Given the description of an element on the screen output the (x, y) to click on. 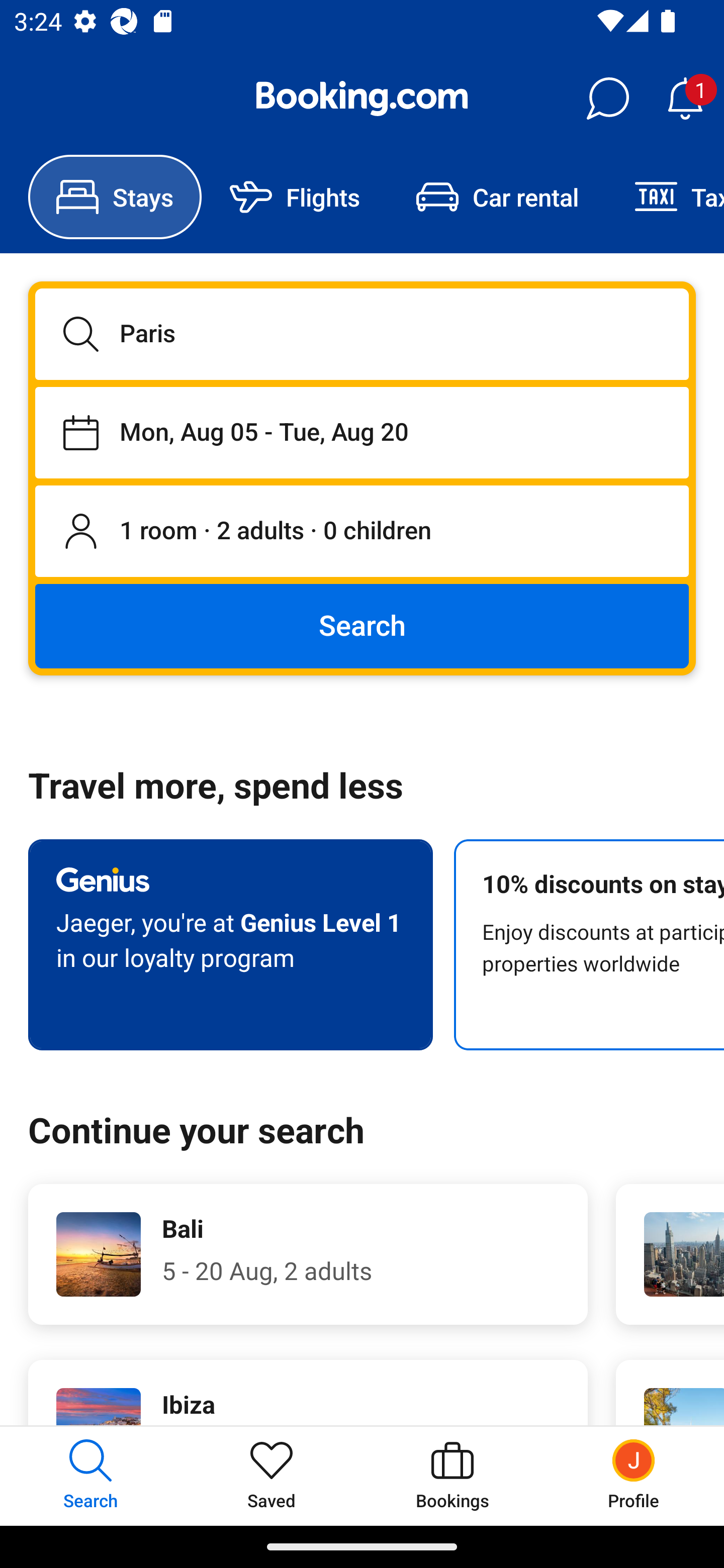
Messages (607, 98)
Notifications (685, 98)
Stays (114, 197)
Flights (294, 197)
Car rental (497, 197)
Taxi (665, 197)
Paris (361, 333)
Staying from Mon, Aug 05 until Tue, Aug 20 (361, 432)
1 room, 2 adults, 0 children (361, 531)
Search (361, 625)
Bali 5 - 20 Aug, 2 adults (307, 1253)
Saved (271, 1475)
Bookings (452, 1475)
Profile (633, 1475)
